Given the description of an element on the screen output the (x, y) to click on. 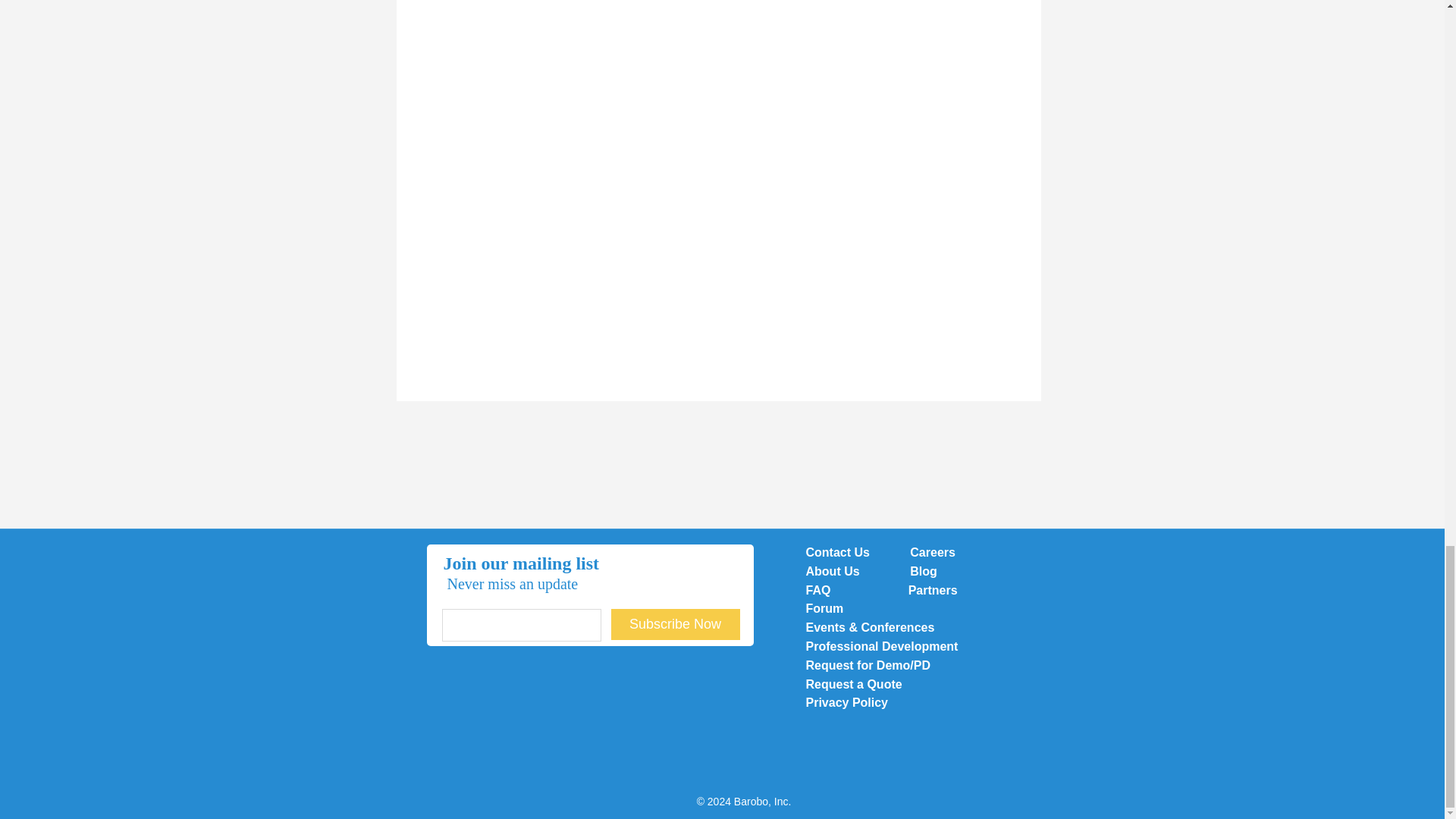
Subscribe Now (675, 624)
Careers (932, 552)
Blog (923, 571)
Partners (933, 590)
FAQ      (826, 590)
Contact Us (837, 552)
About Us  (834, 571)
